Given the description of an element on the screen output the (x, y) to click on. 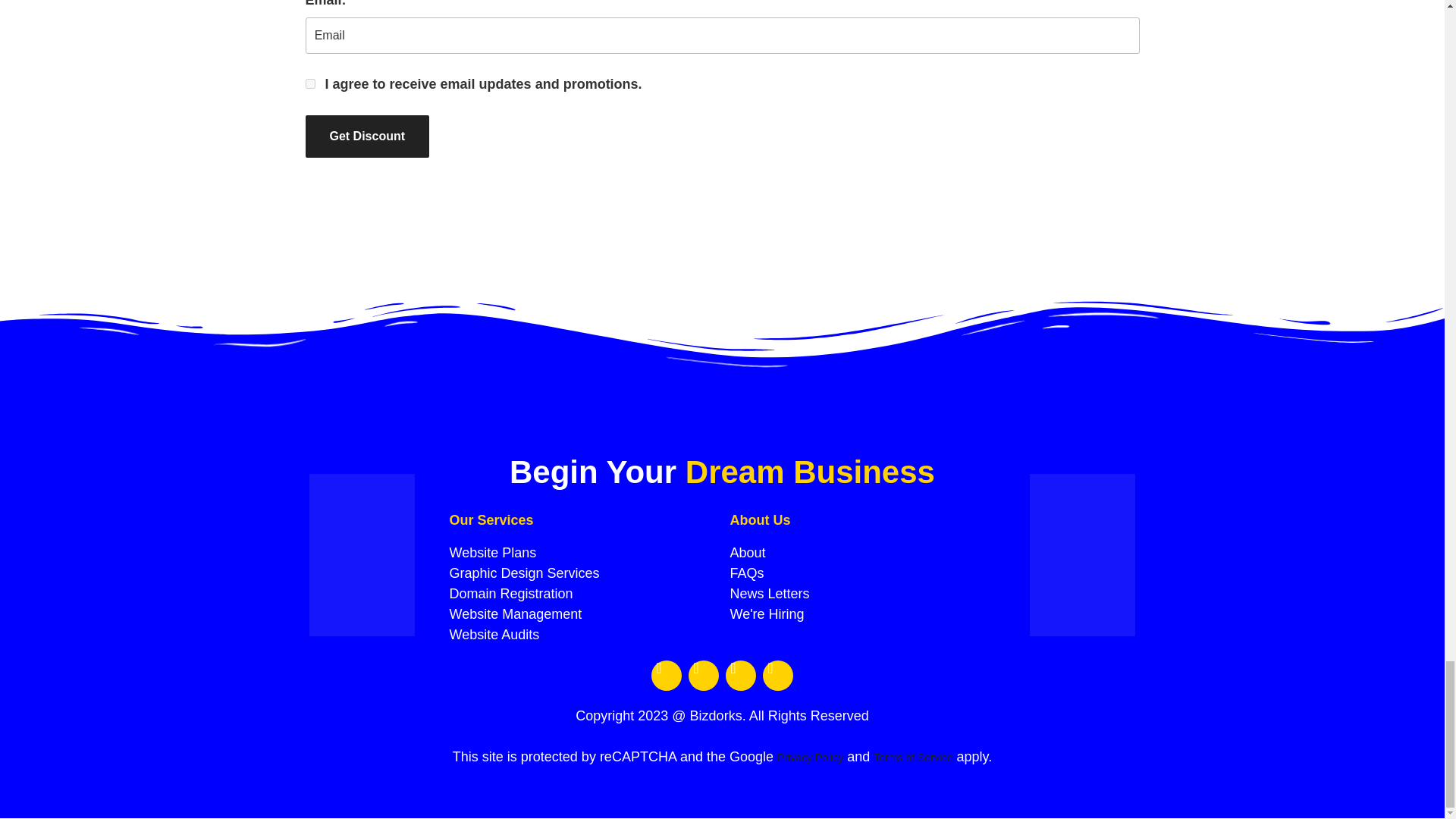
1 (309, 83)
Get Discount (366, 136)
Website Plans (581, 552)
Website Management (581, 614)
